Given the description of an element on the screen output the (x, y) to click on. 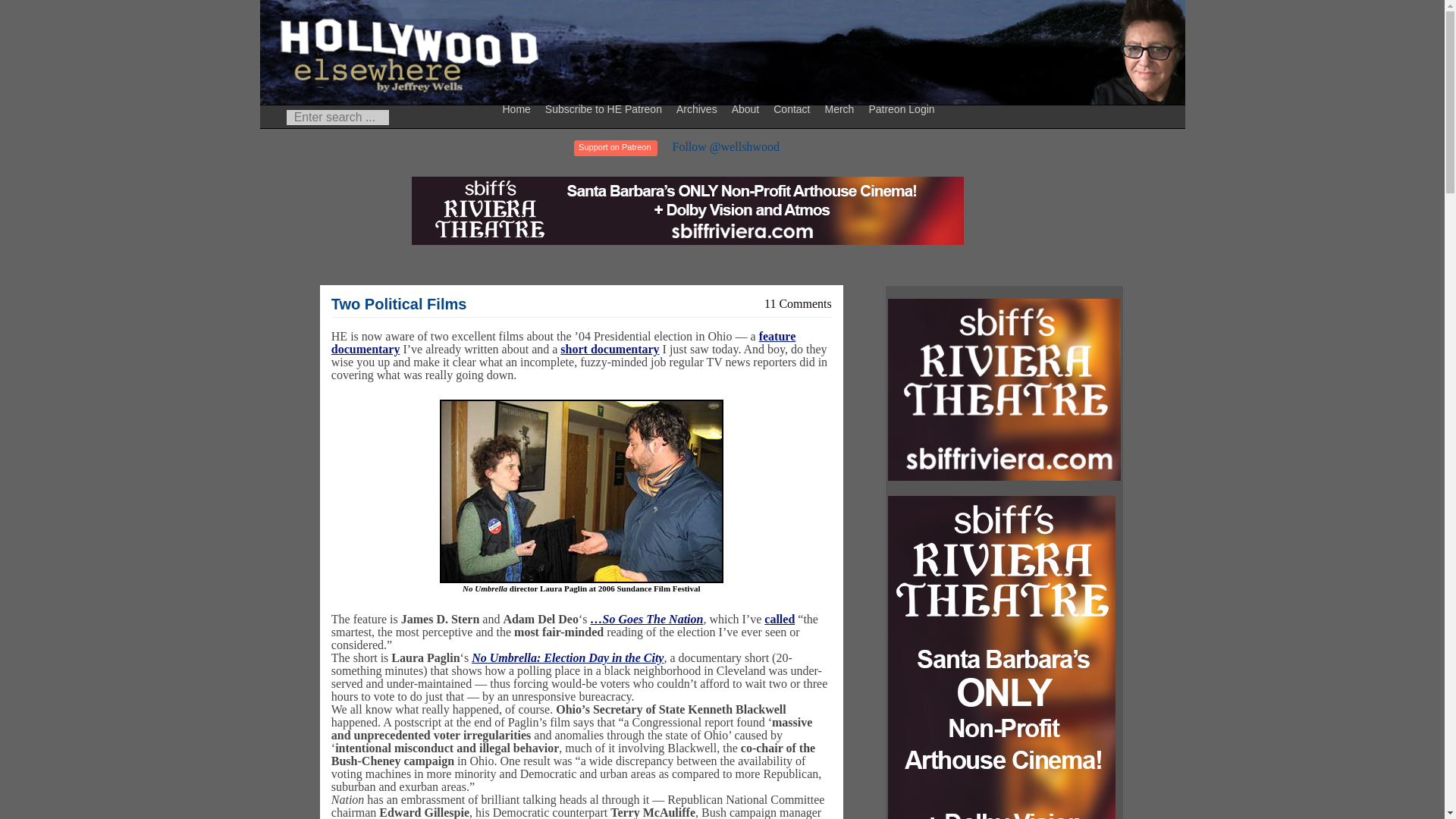
feature documentary (562, 342)
Archives (698, 108)
Contact (793, 108)
About (747, 108)
11 Comments (797, 303)
short documentary (609, 349)
Support on Patreon (614, 148)
Permanent Link to Two Political Films (399, 303)
called (779, 618)
Two Political Films (399, 303)
No Umbrella: Election Day in the City (567, 657)
Merch (841, 108)
Subscribe to HE Patreon (605, 108)
Home (519, 108)
